Given the description of an element on the screen output the (x, y) to click on. 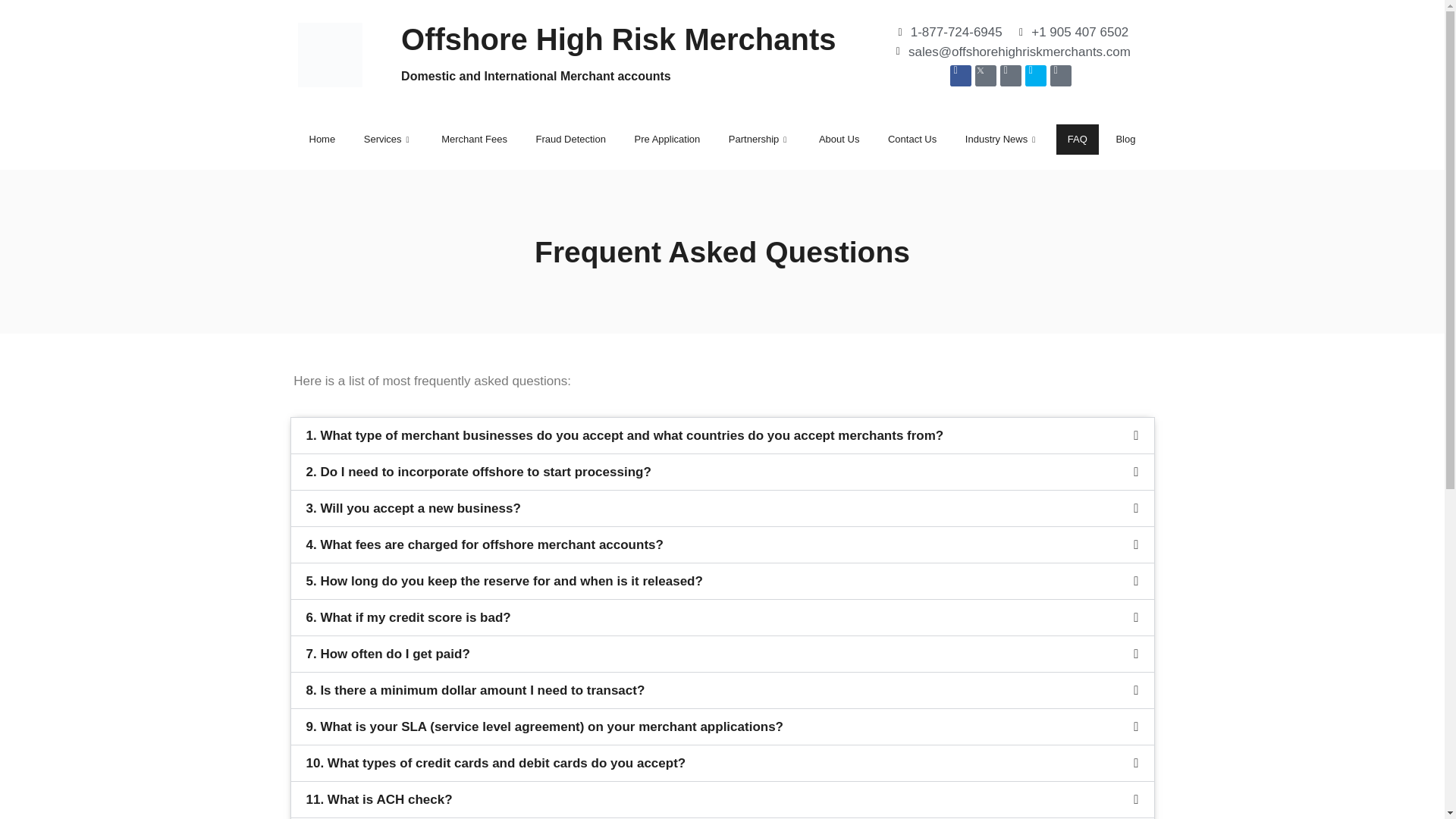
Pre Application (667, 139)
Fraud Detection (570, 139)
FAQ (1078, 139)
Merchant Fees (473, 139)
1-877-724-6945 (947, 32)
Blog (1125, 139)
Contact Us (911, 139)
Home (321, 139)
About Us (839, 139)
Industry News (1001, 139)
